Given the description of an element on the screen output the (x, y) to click on. 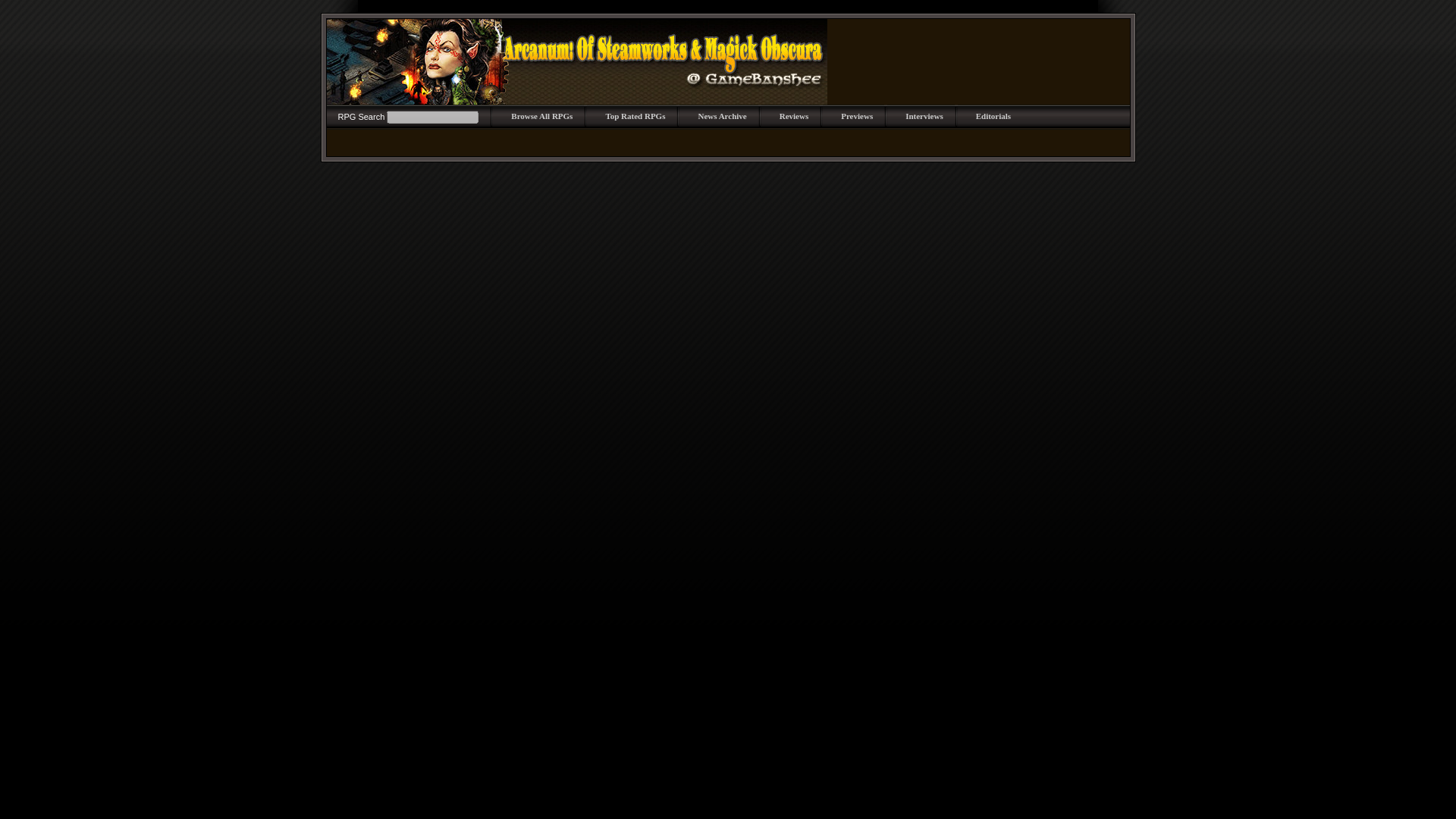
News Archive (721, 115)
Browse All RPGs (541, 115)
Previews (856, 115)
Reviews (793, 115)
Top Rated RPGs (635, 115)
Interviews (924, 115)
Editorials (992, 115)
